Given the description of an element on the screen output the (x, y) to click on. 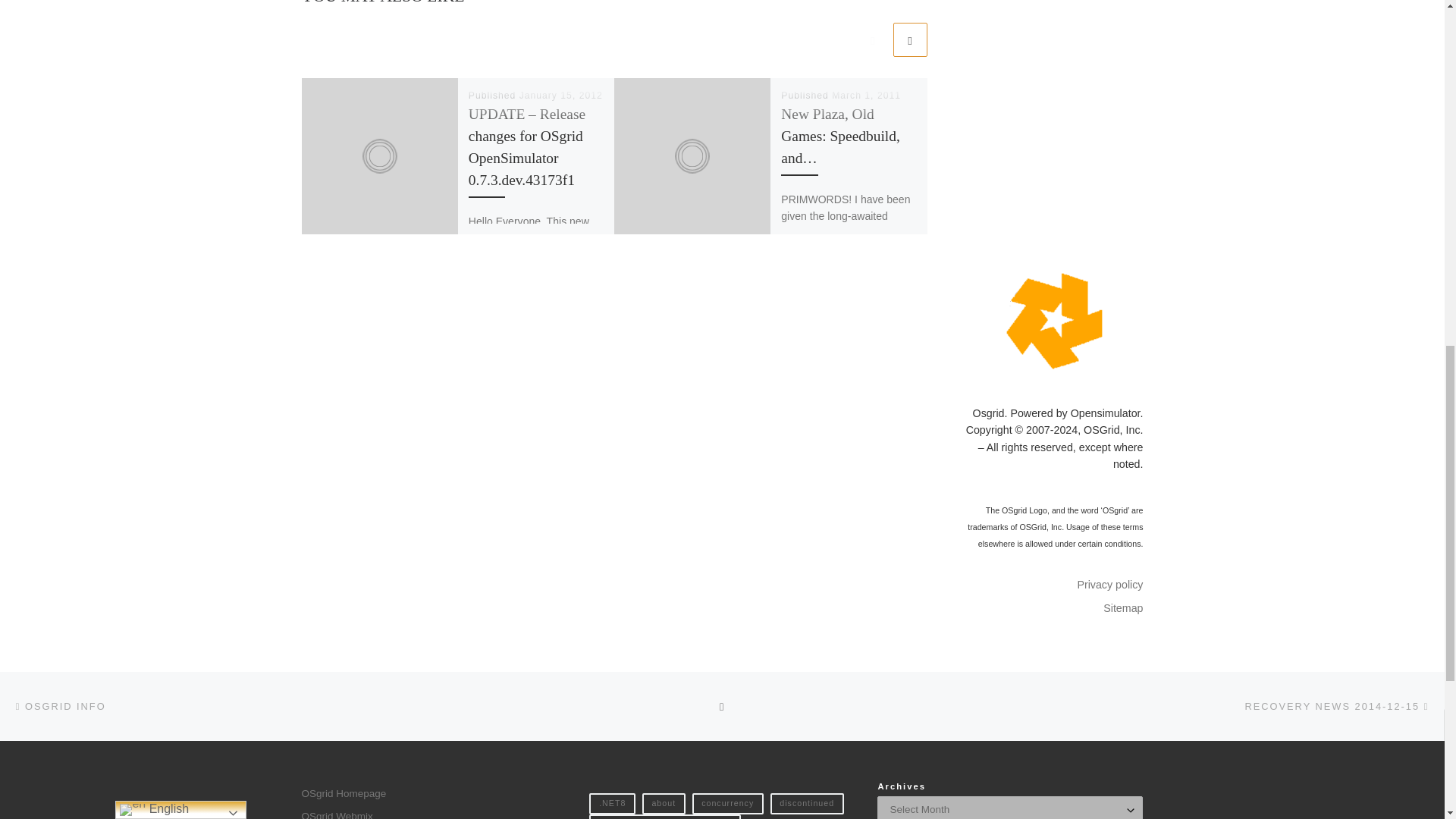
March 1, 2011 (866, 95)
Next related articles (910, 39)
January 15, 2012 (560, 95)
Previous related articles (872, 39)
